Given the description of an element on the screen output the (x, y) to click on. 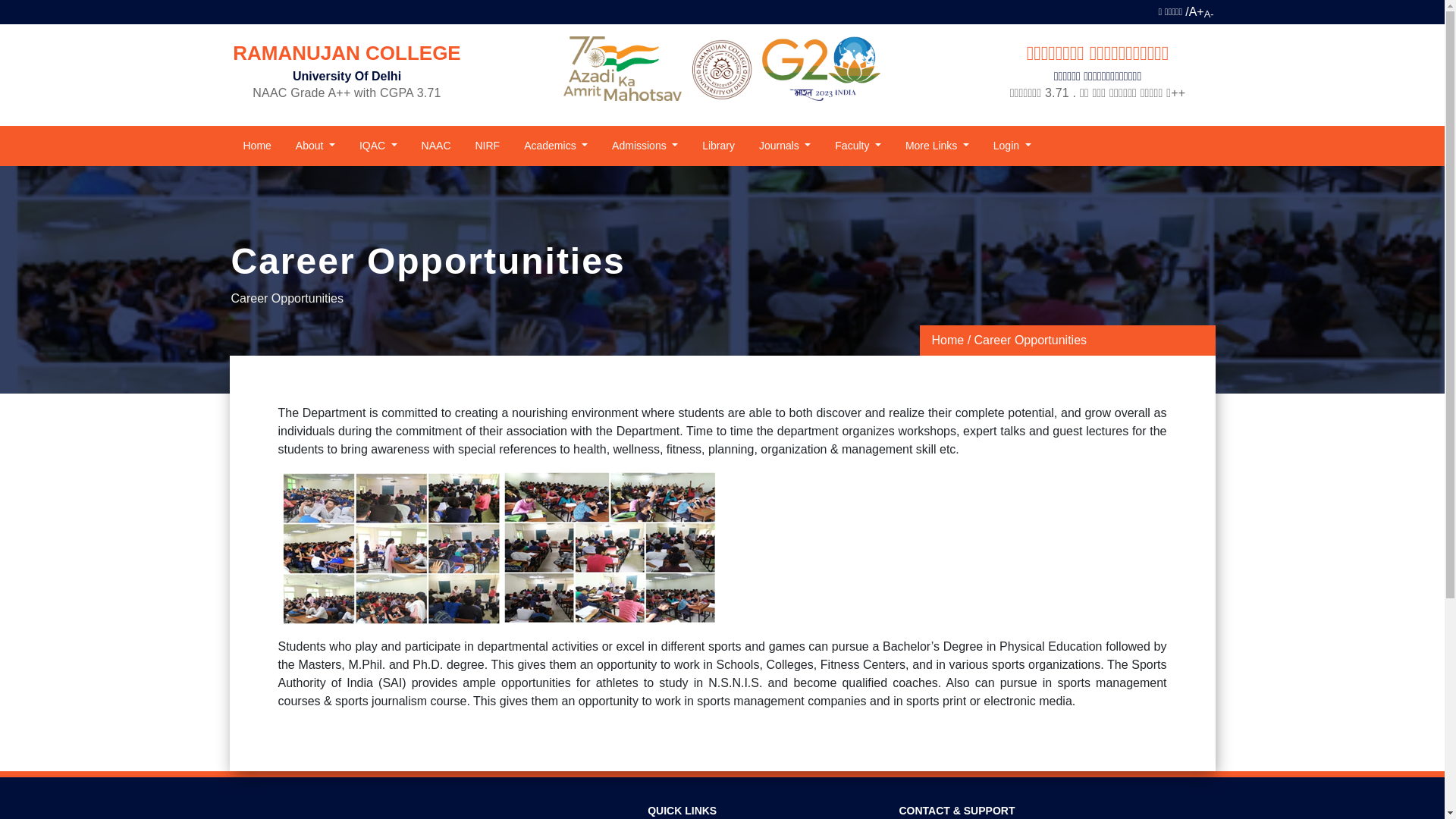
IQAC (378, 145)
NAAC (435, 145)
Admissions (644, 145)
NIRF (486, 145)
Academics (556, 145)
Home (255, 145)
About (314, 145)
